Given the description of an element on the screen output the (x, y) to click on. 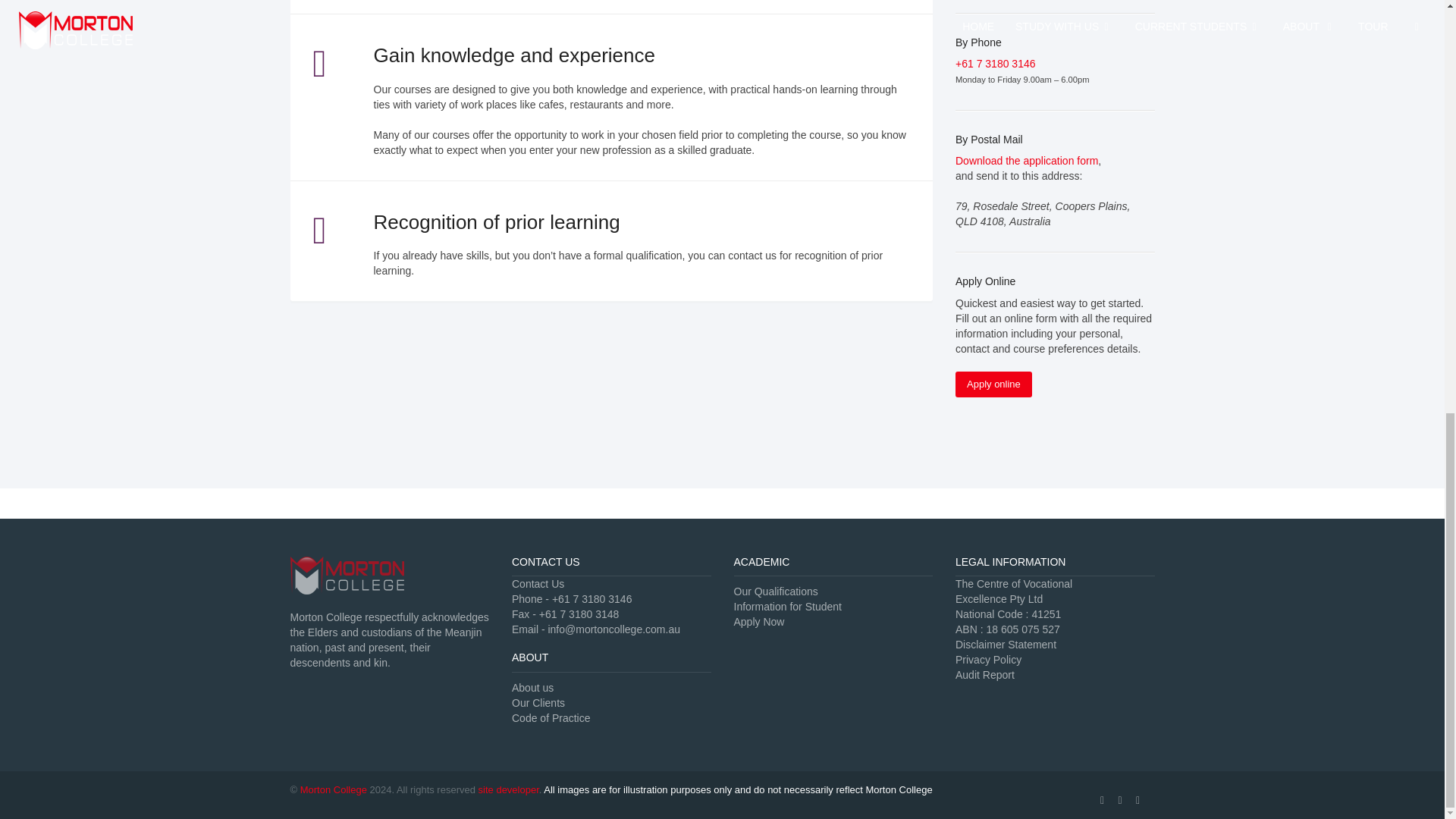
About us (532, 687)
Our Clients (538, 702)
Our Qualifications (775, 591)
Apply Now (758, 621)
Apply online (993, 384)
Download the application form (1026, 160)
Code of Practice (551, 717)
Information for Student (787, 606)
Contact Us (538, 583)
